Given the description of an element on the screen output the (x, y) to click on. 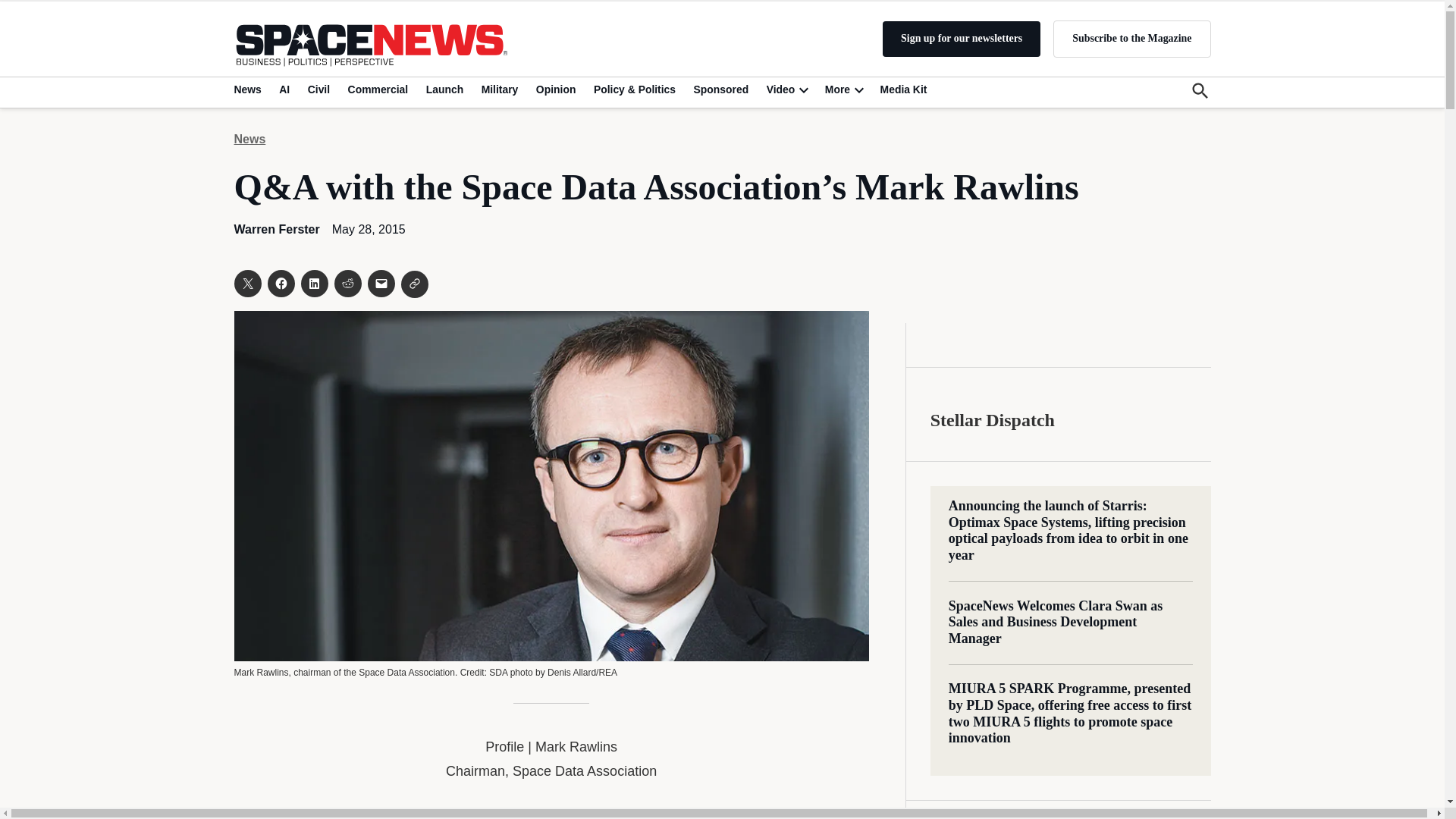
Civil (318, 89)
Click to share on LinkedIn (313, 283)
News (249, 89)
Subscribe to the Magazine (1130, 38)
Click to share on Facebook (280, 283)
Click to share on Clipboard (414, 284)
Click to share on X (246, 283)
Click to share on Reddit (347, 283)
Sign up for our newsletters (961, 38)
AI (284, 89)
Click to email a link to a friend (380, 283)
